Given the description of an element on the screen output the (x, y) to click on. 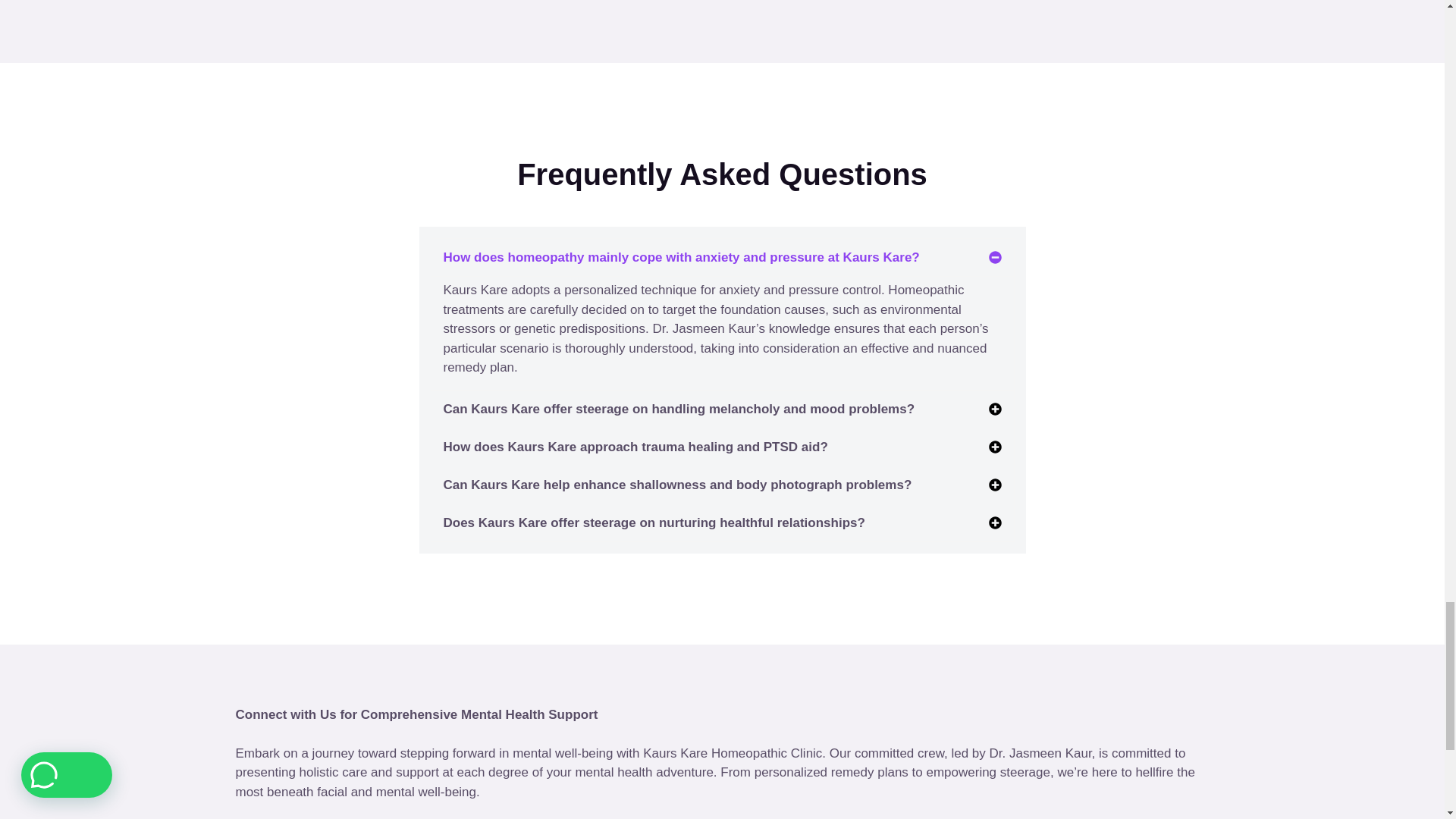
How does Kaurs Kare approach trauma healing and PTSD aid? (634, 446)
